Given the description of an element on the screen output the (x, y) to click on. 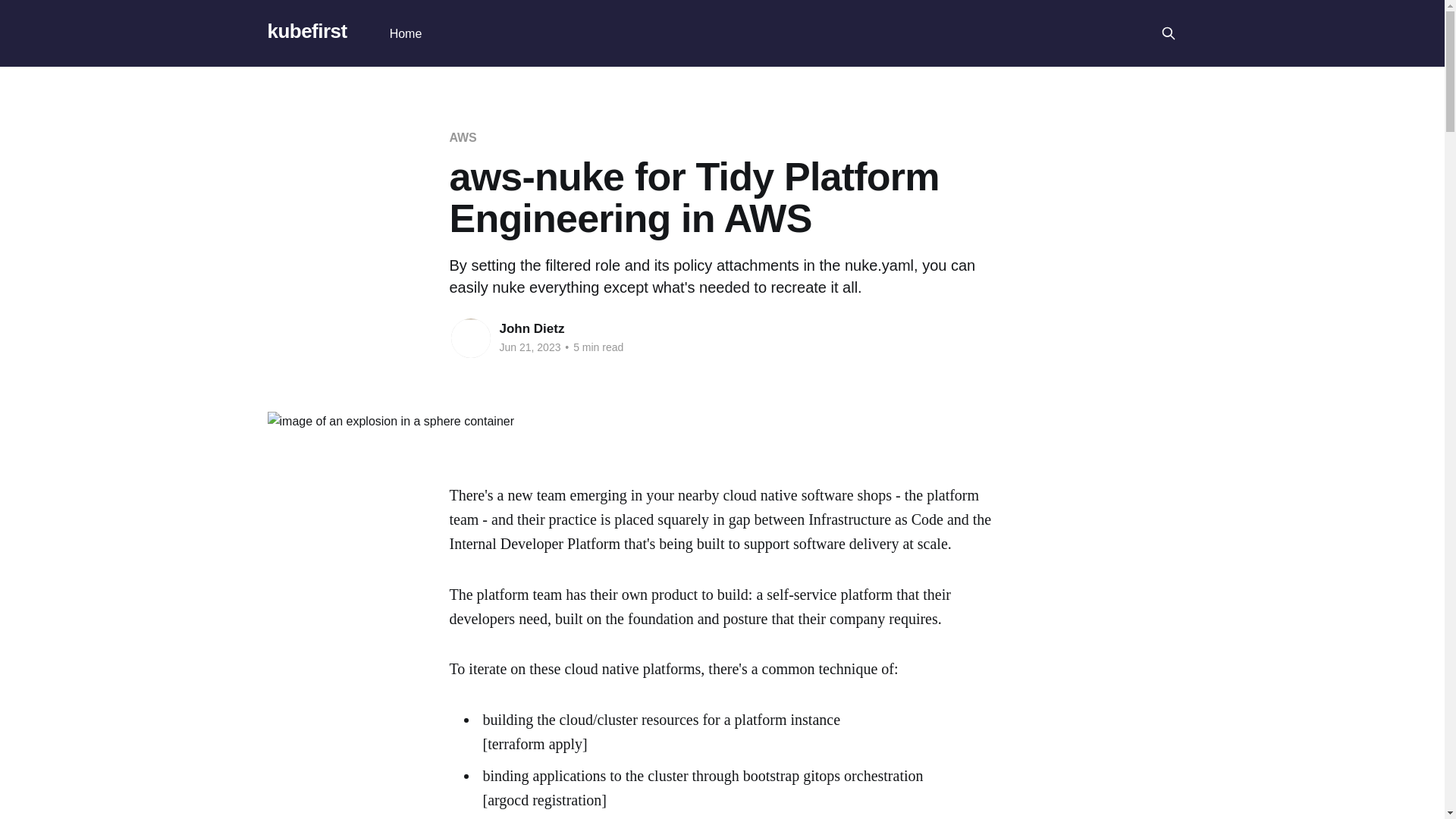
John Dietz (531, 328)
AWS (462, 137)
kubefirst (306, 31)
Home (406, 33)
